Given the description of an element on the screen output the (x, y) to click on. 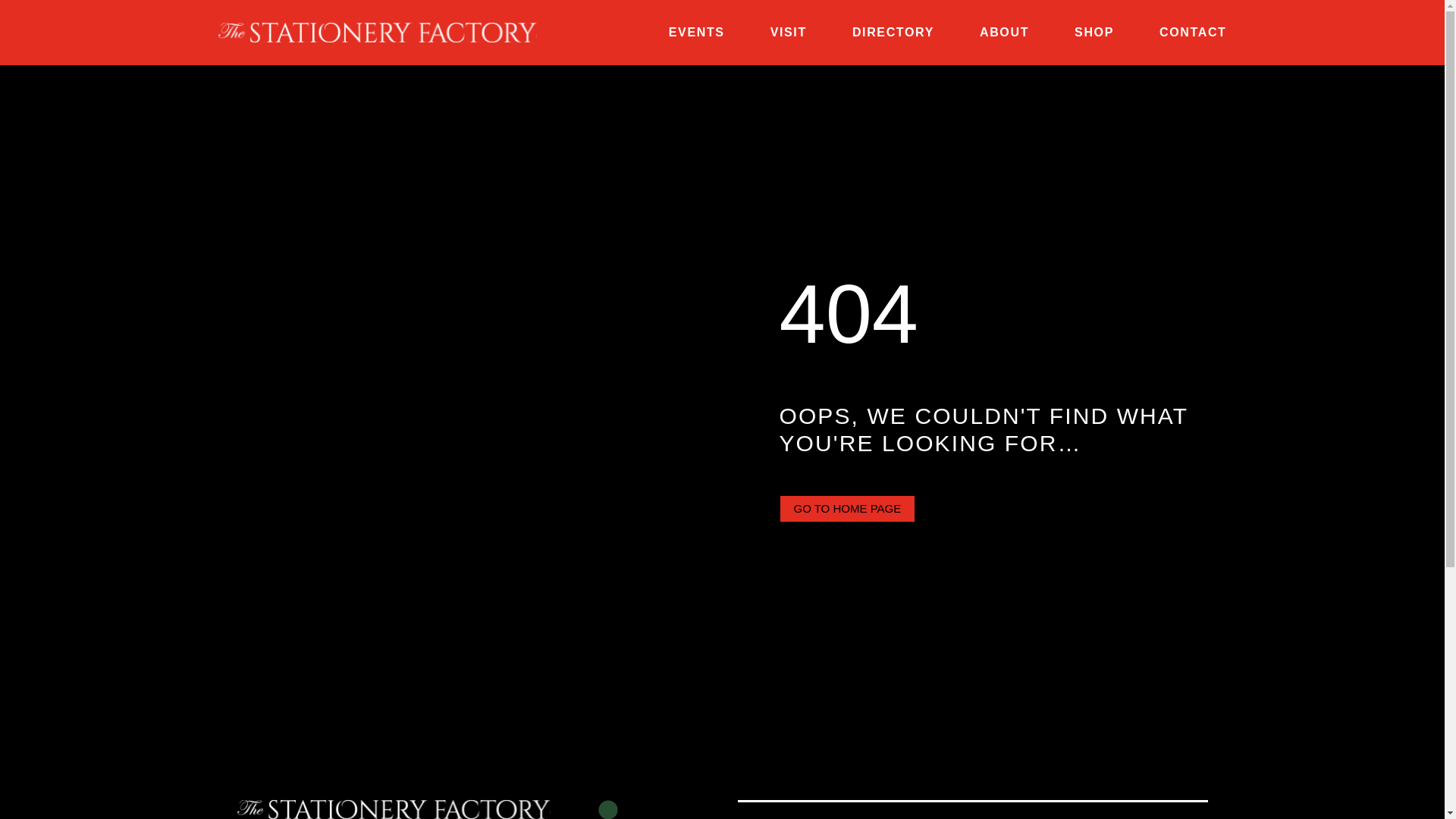
DIRECTORY (892, 32)
CONTACT (1192, 32)
EVENTS (696, 32)
ABOUT (1004, 32)
VISIT (788, 32)
SHOP (1093, 32)
GO TO HOME PAGE (846, 508)
